Given the description of an element on the screen output the (x, y) to click on. 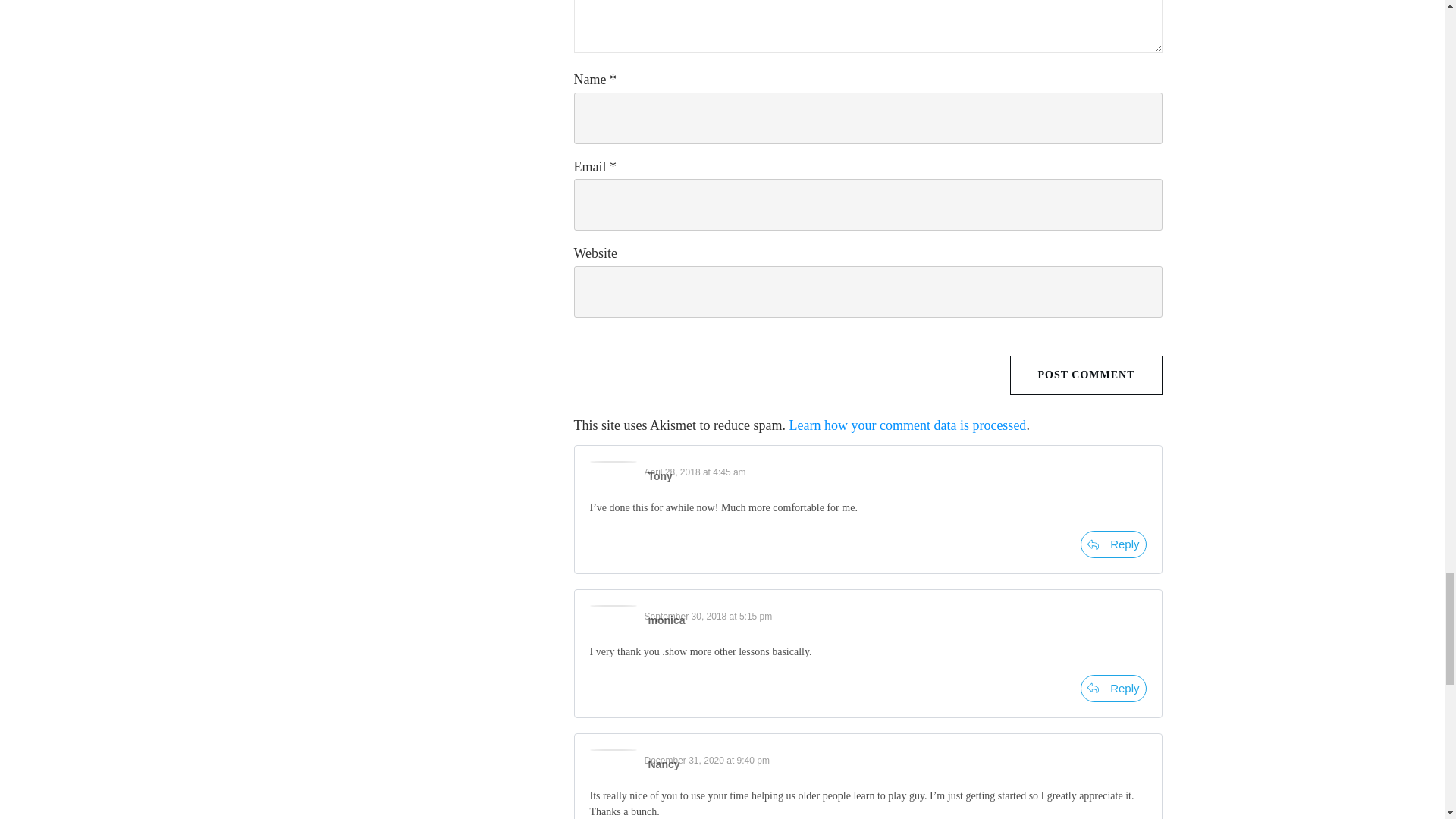
Reply (1112, 687)
December 31, 2020 at 9:40 pm (707, 760)
POST COMMENT (1085, 374)
September 30, 2018 at 5:15 pm (709, 615)
Reply (1112, 543)
Learn how your comment data is processed (907, 425)
April 28, 2018 at 4:45 am (695, 471)
